Given the description of an element on the screen output the (x, y) to click on. 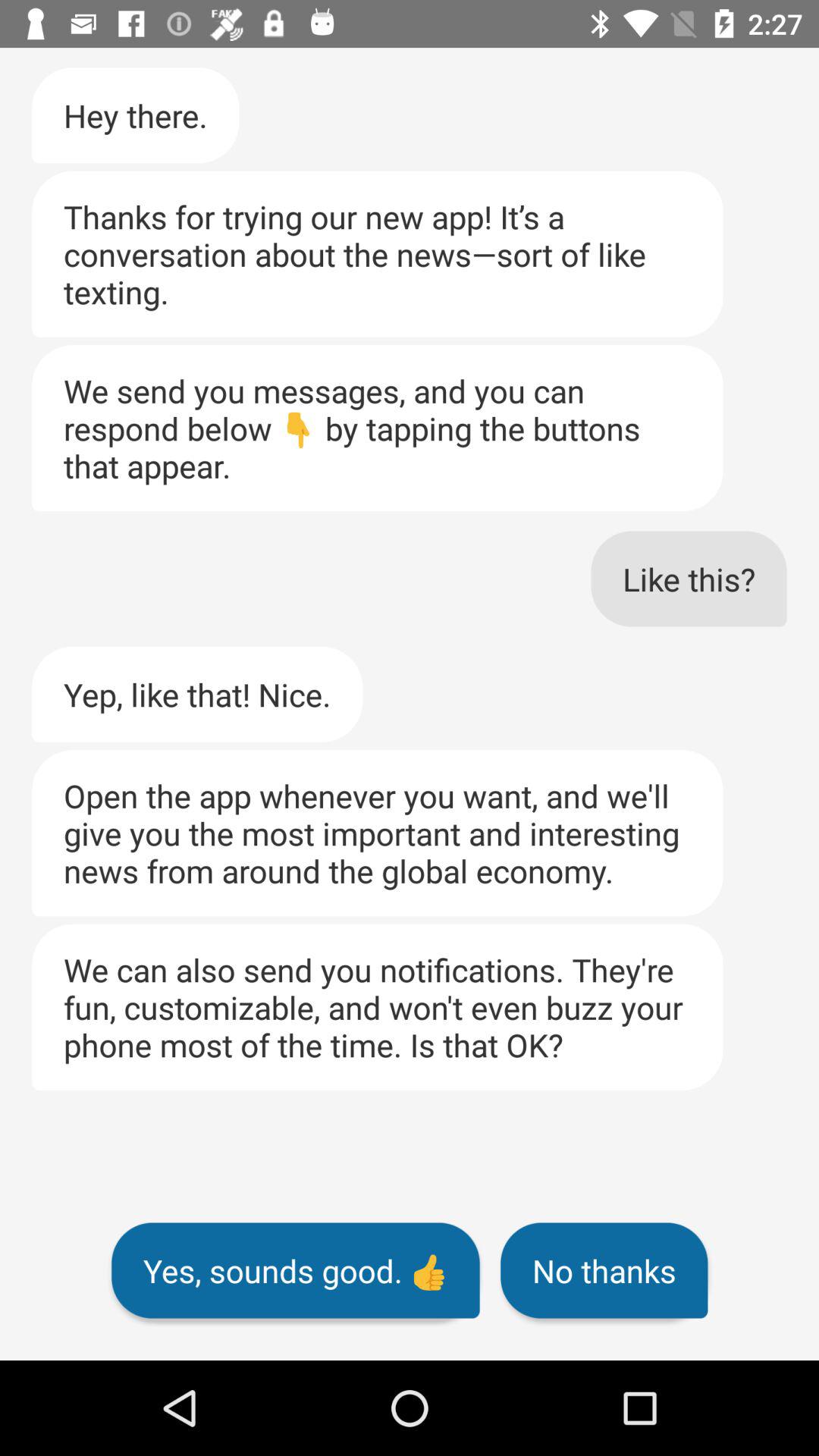
open no thanks item (604, 1270)
